Given the description of an element on the screen output the (x, y) to click on. 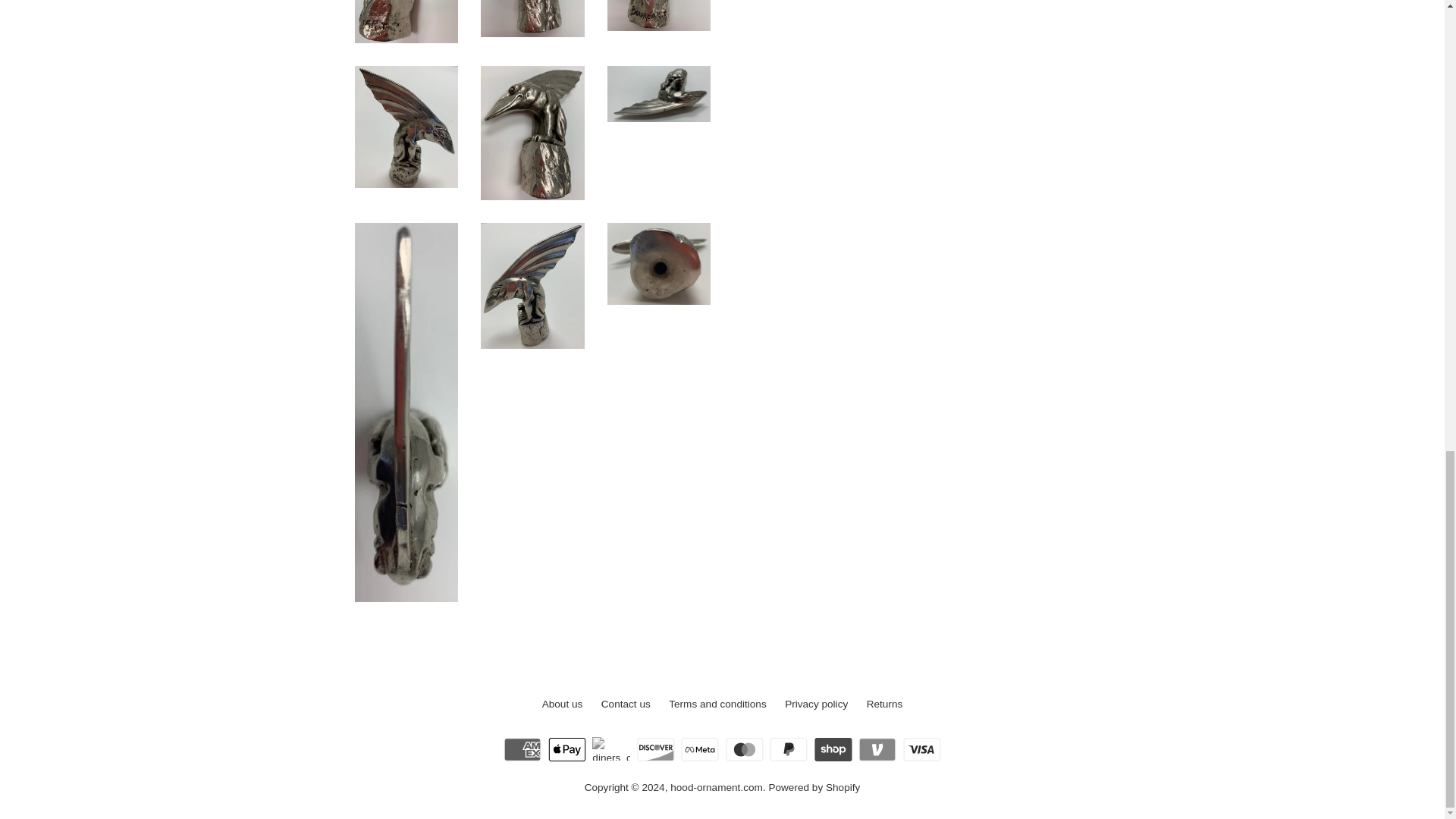
Contact us (625, 704)
Returns (884, 704)
About us (562, 704)
Terms and conditions (716, 704)
Powered by Shopify (814, 787)
hood-ornament.com (715, 787)
Privacy policy (815, 704)
